Given the description of an element on the screen output the (x, y) to click on. 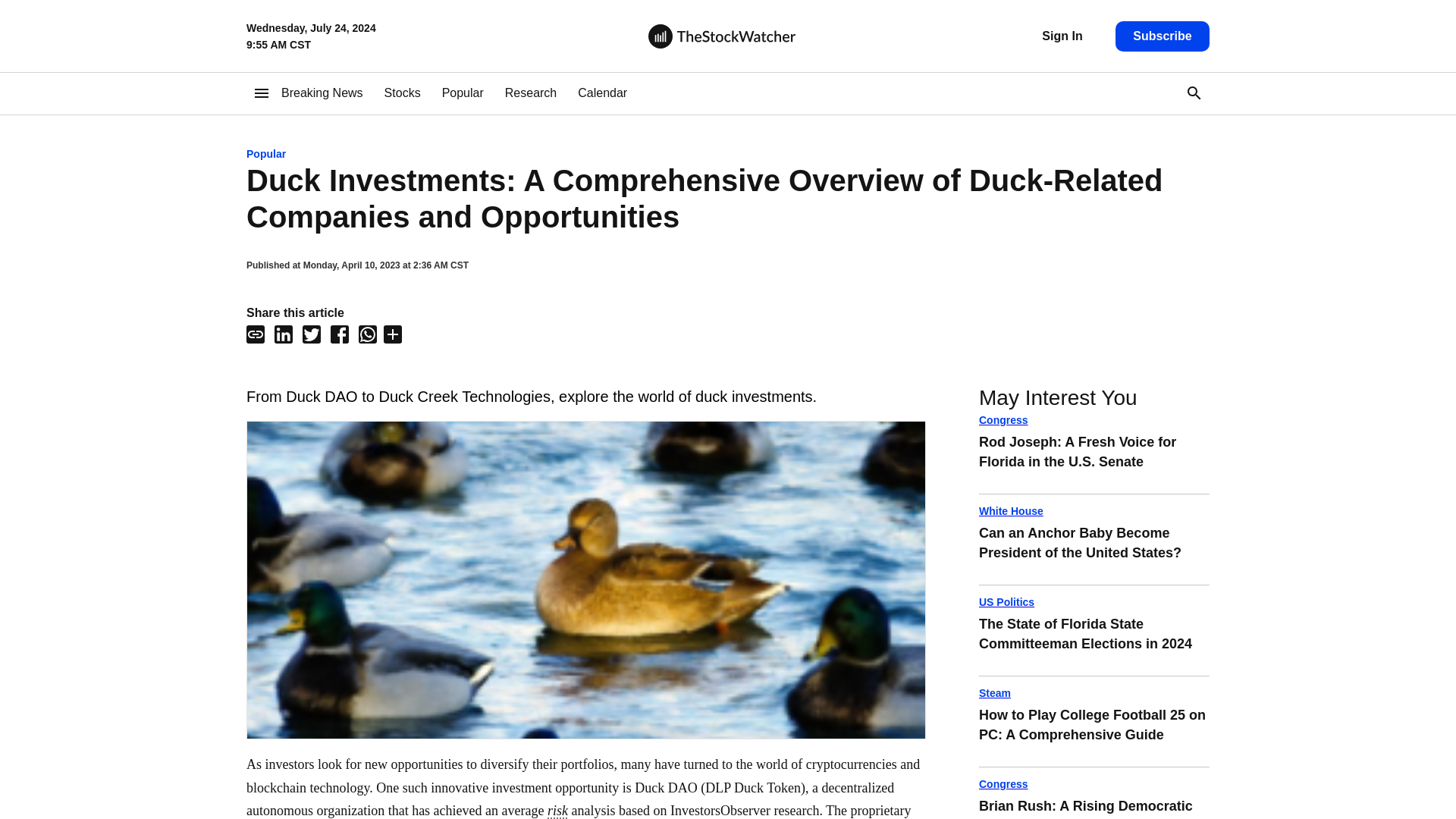
Congress (1093, 783)
Popular (462, 92)
Steam (1093, 458)
White House (1093, 692)
Research (1093, 510)
risk (530, 92)
Subscribe (557, 810)
Breaking News (1162, 36)
Calendar (322, 92)
Popular (602, 92)
Congress (727, 153)
